Given the description of an element on the screen output the (x, y) to click on. 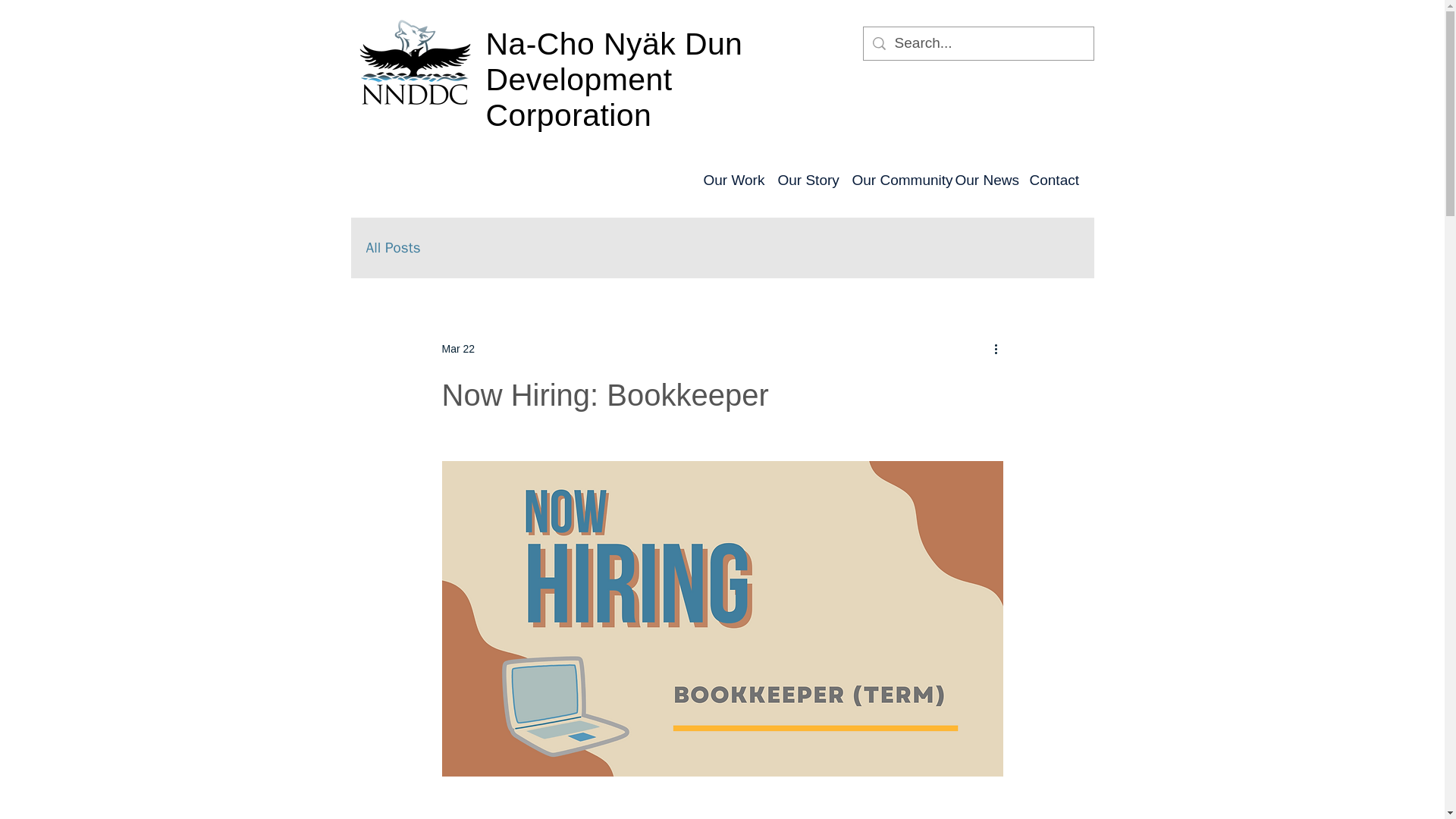
Our Work (728, 180)
Mar 22 (457, 348)
Our Story (802, 180)
All Posts (392, 247)
Our News (980, 180)
Our Community (891, 180)
Contact (1049, 180)
